Given the description of an element on the screen output the (x, y) to click on. 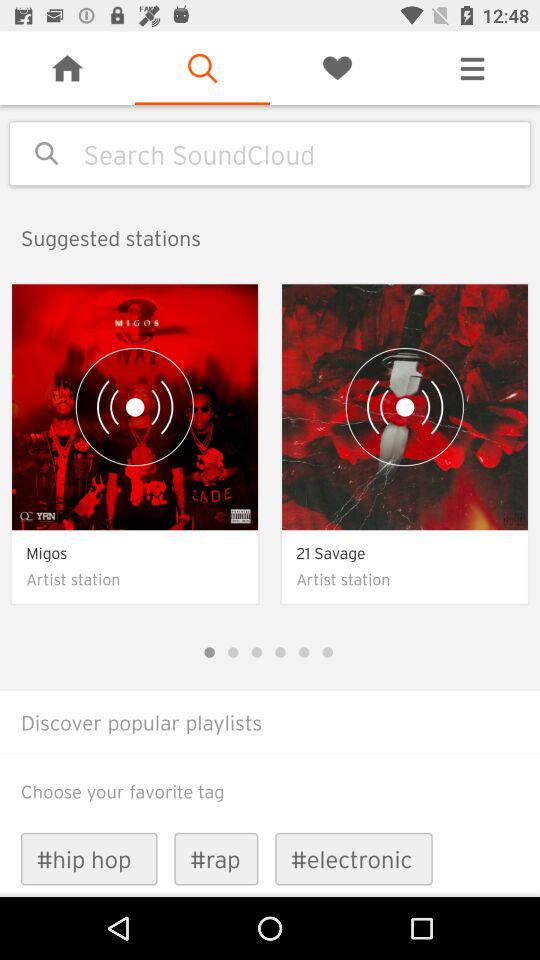
tap the #hip hop icon (88, 858)
